Given the description of an element on the screen output the (x, y) to click on. 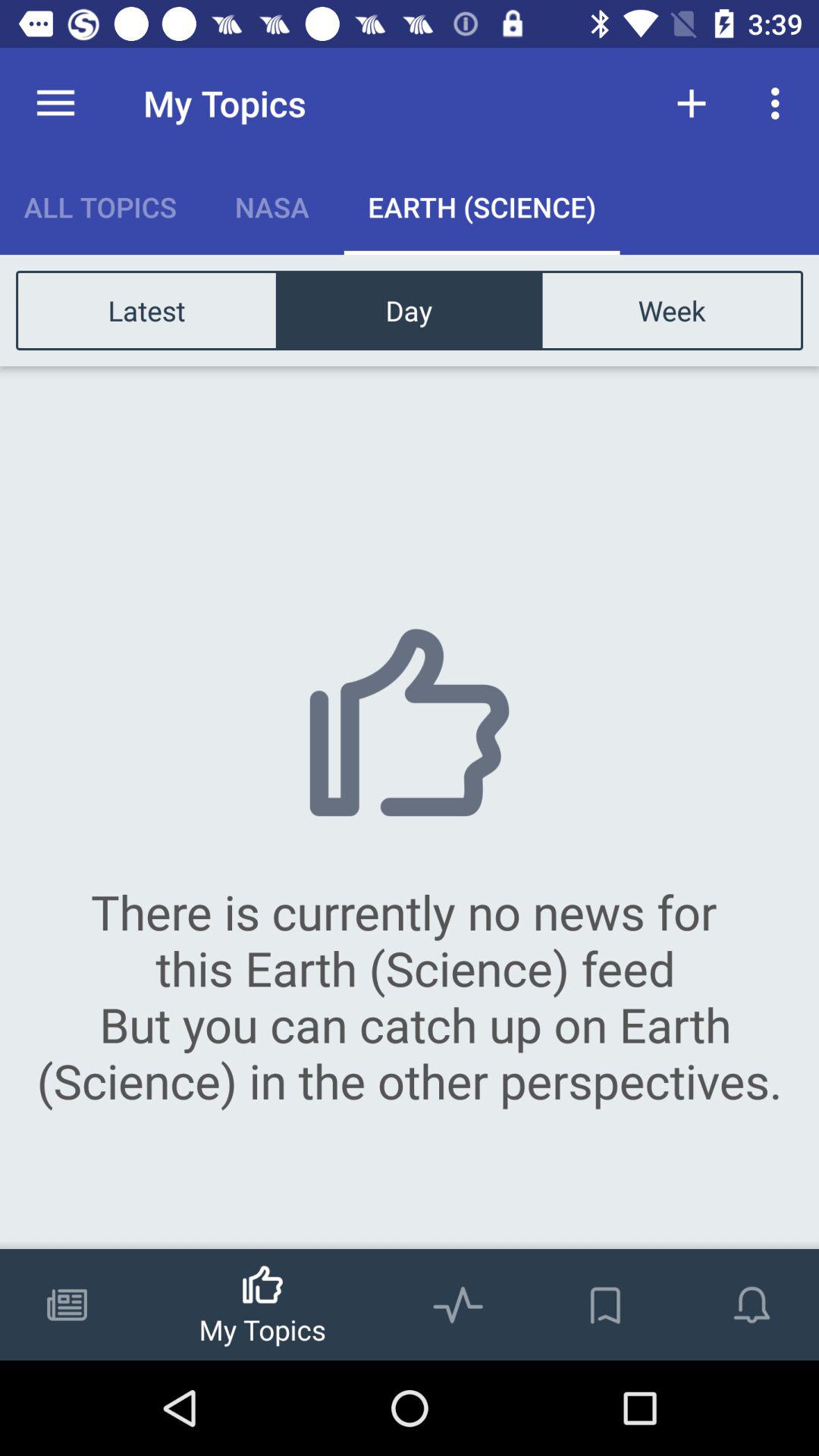
turn on icon above there is currently (146, 310)
